Given the description of an element on the screen output the (x, y) to click on. 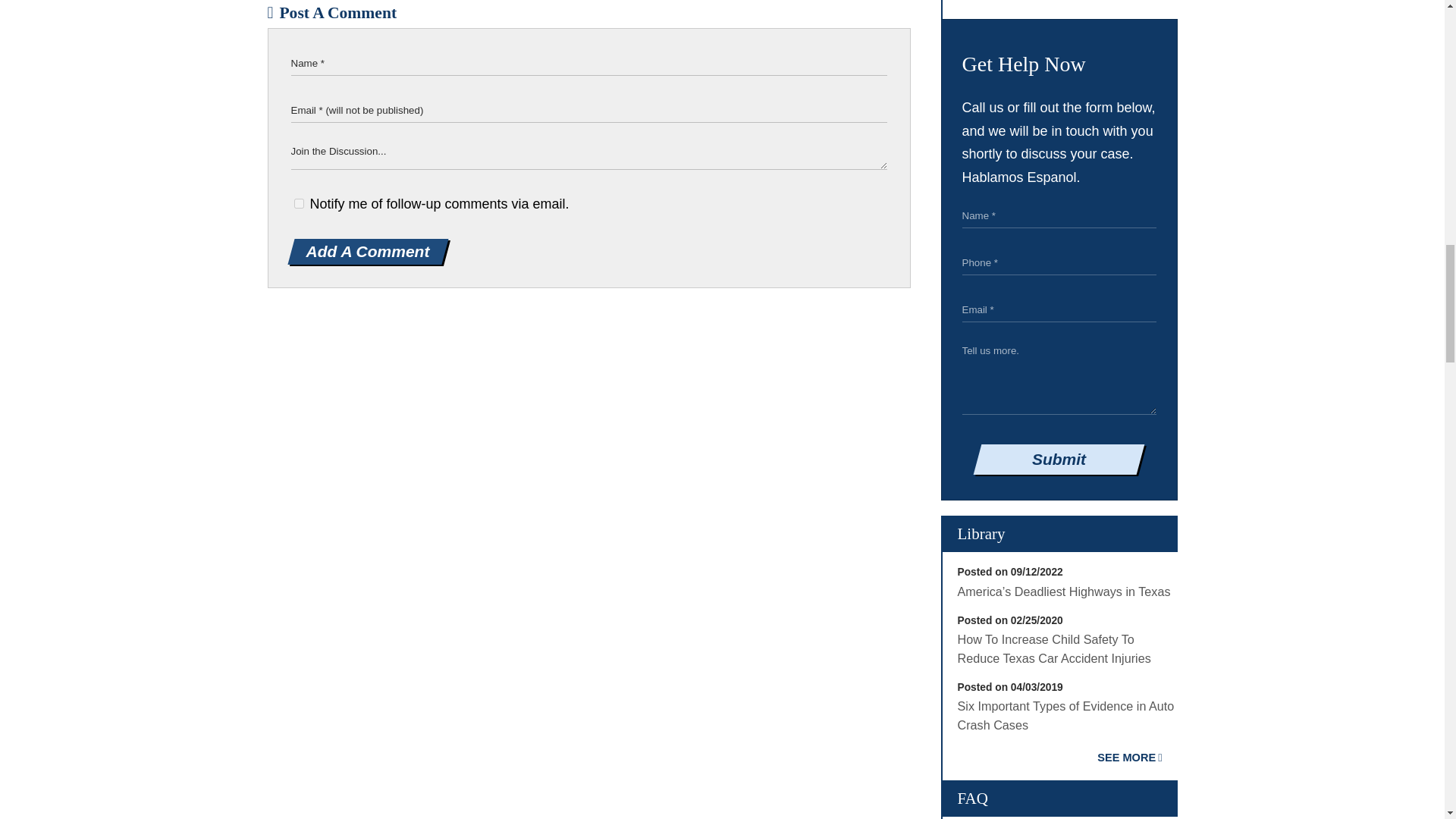
1 (299, 203)
